Given the description of an element on the screen output the (x, y) to click on. 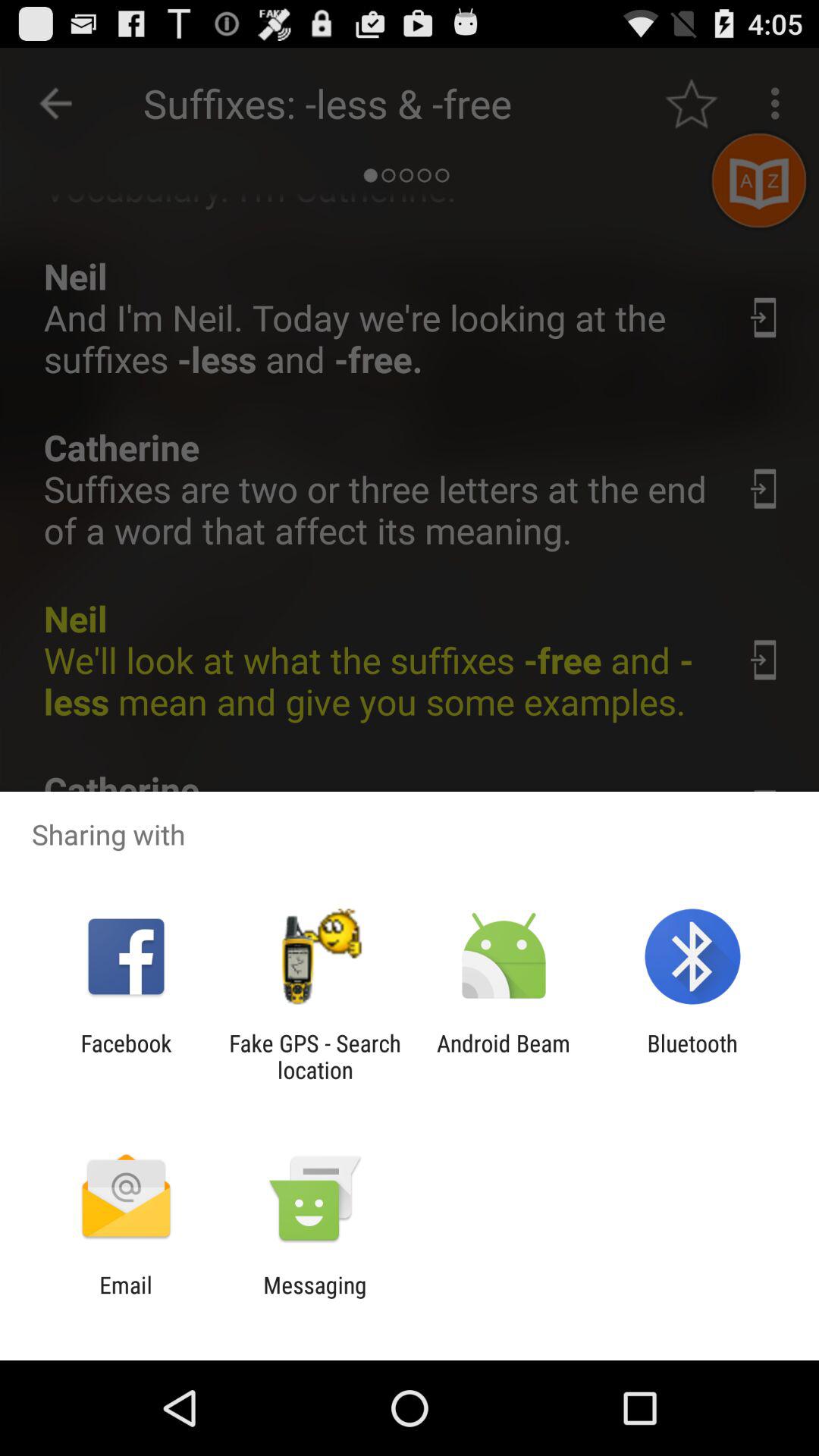
select item next to fake gps search item (125, 1056)
